Given the description of an element on the screen output the (x, y) to click on. 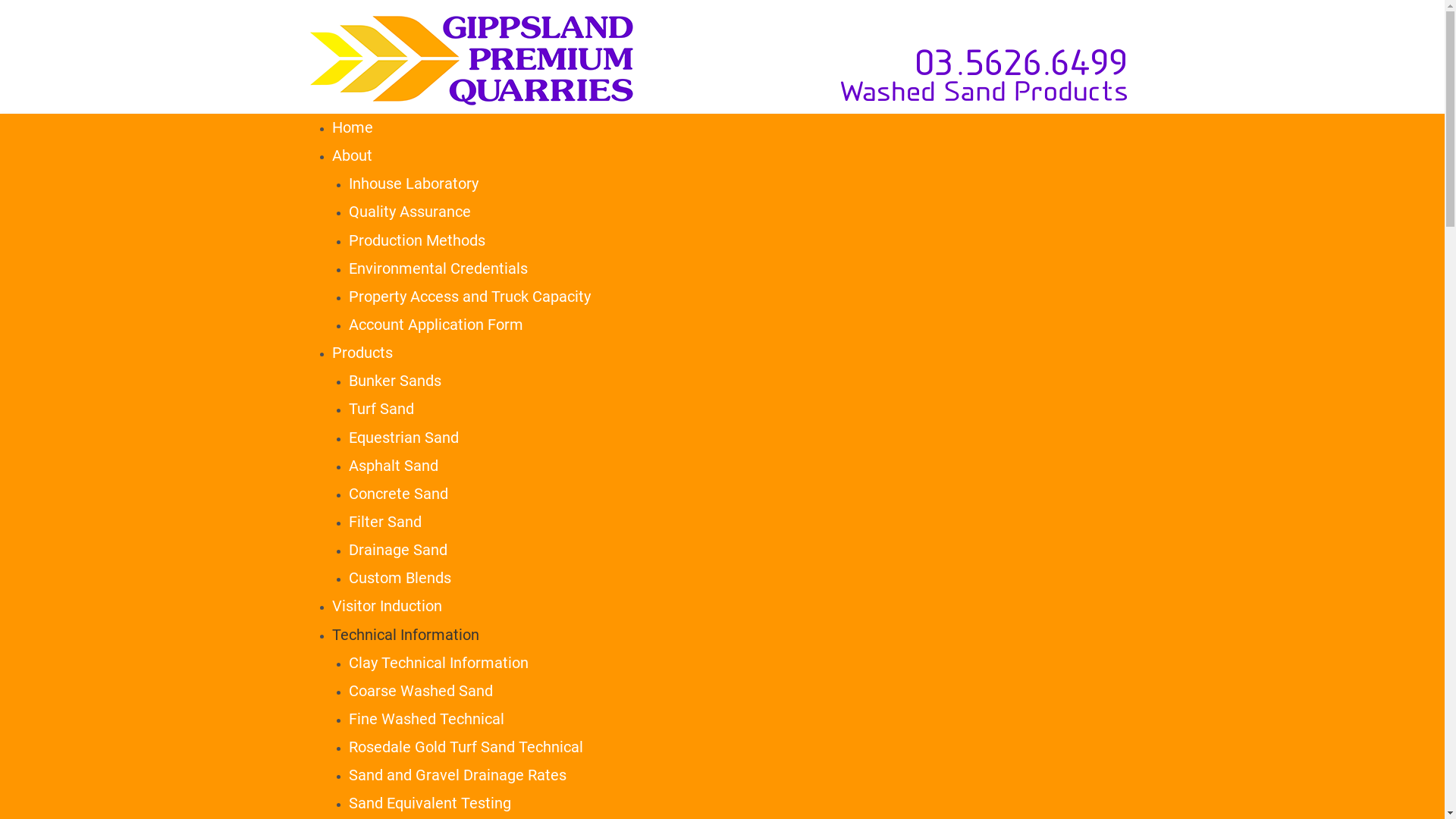
Technical Information Element type: text (405, 634)
Environmental Credentials Element type: text (437, 268)
Bunker Sands Element type: text (394, 380)
Sand and Gravel Drainage Rates Element type: text (457, 774)
Fine Washed Technical Element type: text (426, 718)
Filter Sand Element type: text (384, 521)
Concrete Sand Element type: text (398, 493)
Visitor Induction Element type: text (387, 605)
Account Application Form Element type: text (435, 324)
Inhouse Laboratory Element type: text (413, 183)
Home Element type: text (352, 127)
Custom Blends Element type: text (399, 577)
Quality Assurance Element type: text (409, 211)
Rosedale Gold Turf Sand Technical Element type: text (465, 746)
Property Access and Truck Capacity Element type: text (469, 296)
Clay Technical Information Element type: text (438, 662)
About Element type: text (352, 155)
Drainage Sand Element type: text (397, 549)
Equestrian Sand Element type: text (403, 437)
Sand Equivalent Testing Element type: text (429, 802)
Coarse Washed Sand Element type: text (420, 690)
Asphalt Sand Element type: text (393, 465)
Products Element type: text (362, 352)
Turf Sand Element type: text (381, 408)
Production Methods Element type: text (416, 240)
